Given the description of an element on the screen output the (x, y) to click on. 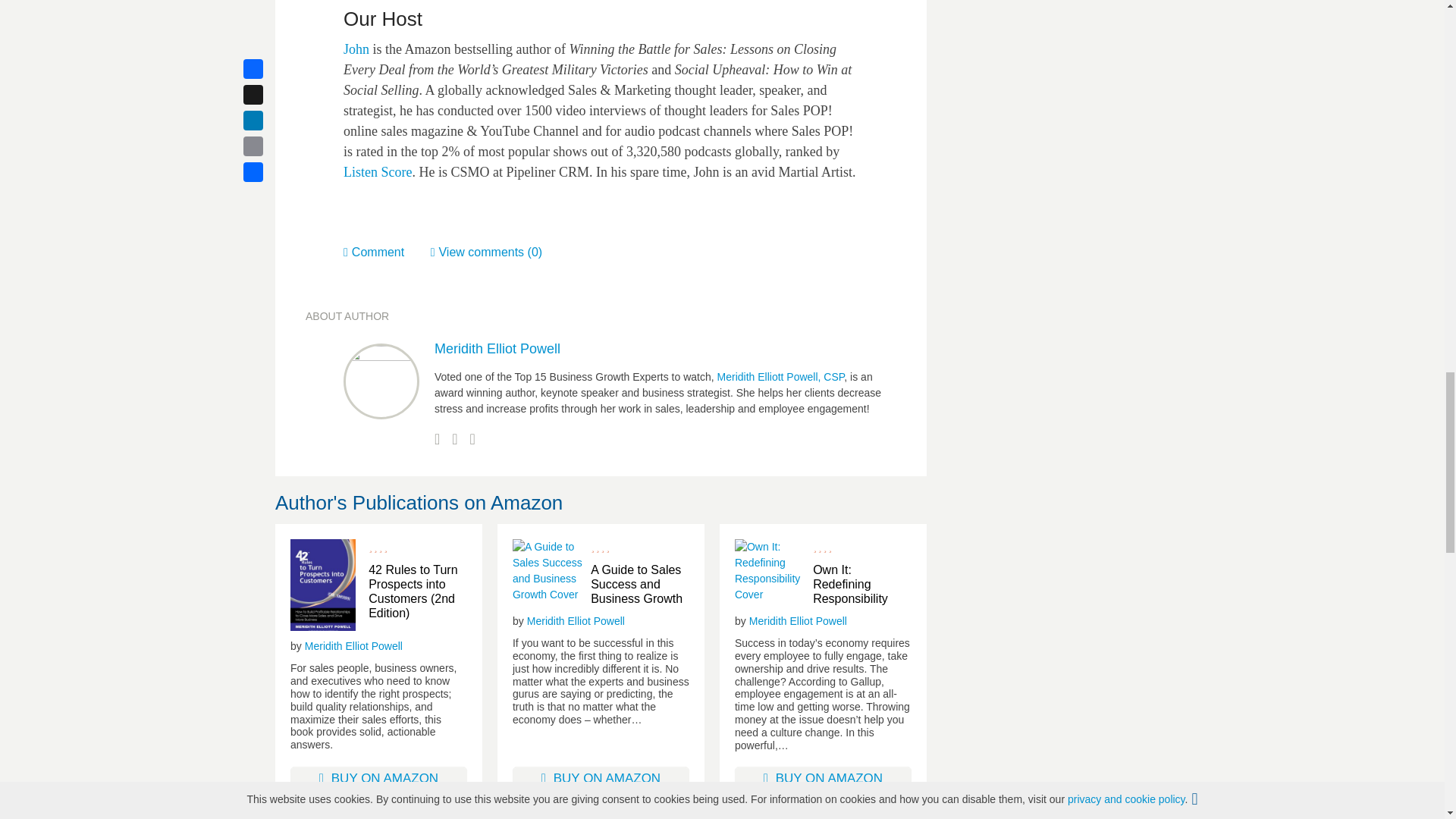
Meridith Elliott Powell, CSP (780, 377)
Comment (386, 251)
Meridith Elliot Powell (496, 348)
Meridith Elliot Powell (353, 646)
Listen Score (377, 171)
John (356, 48)
